Given the description of an element on the screen output the (x, y) to click on. 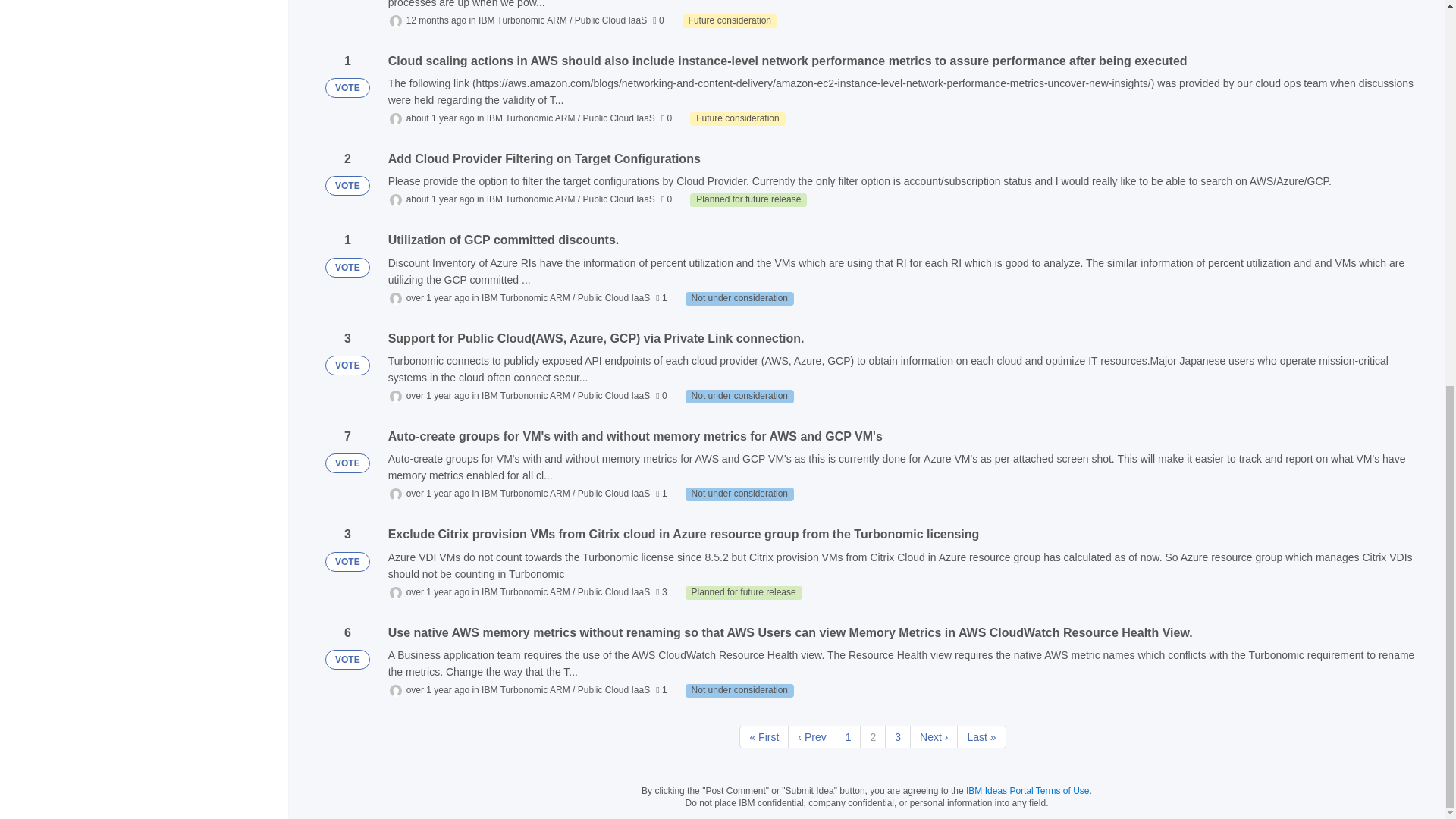
Not under consideration (739, 298)
Planned for future release (743, 592)
Future consideration (729, 20)
Not under consideration (739, 690)
Not under consideration (739, 396)
Not under consideration (739, 494)
Planned for future release (748, 200)
Future consideration (737, 119)
